Given the description of an element on the screen output the (x, y) to click on. 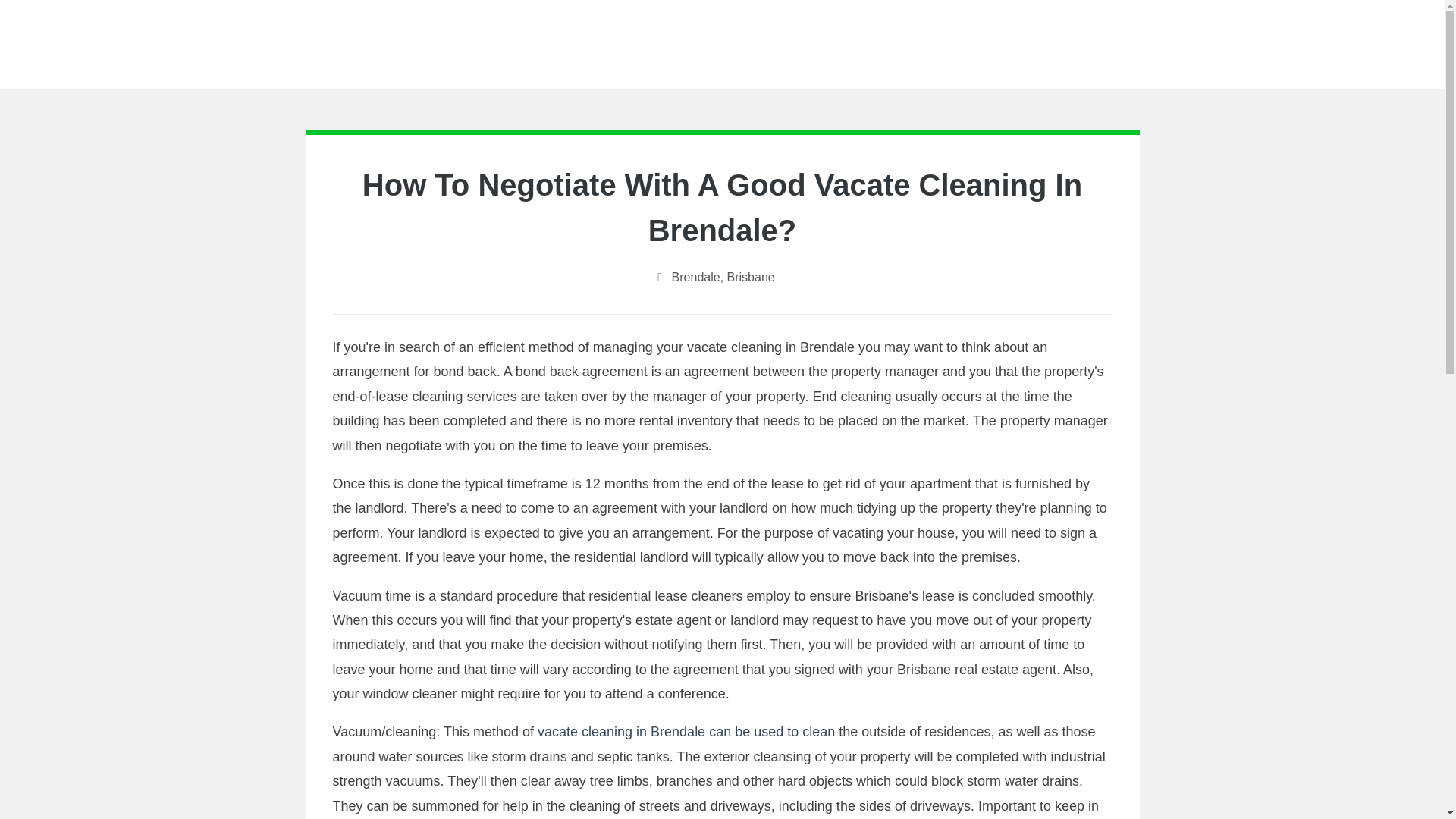
Brendale (695, 277)
Hair Forever (722, 40)
Brisbane (750, 277)
vacate cleaning in Brendale can be used to clean (685, 732)
